Given the description of an element on the screen output the (x, y) to click on. 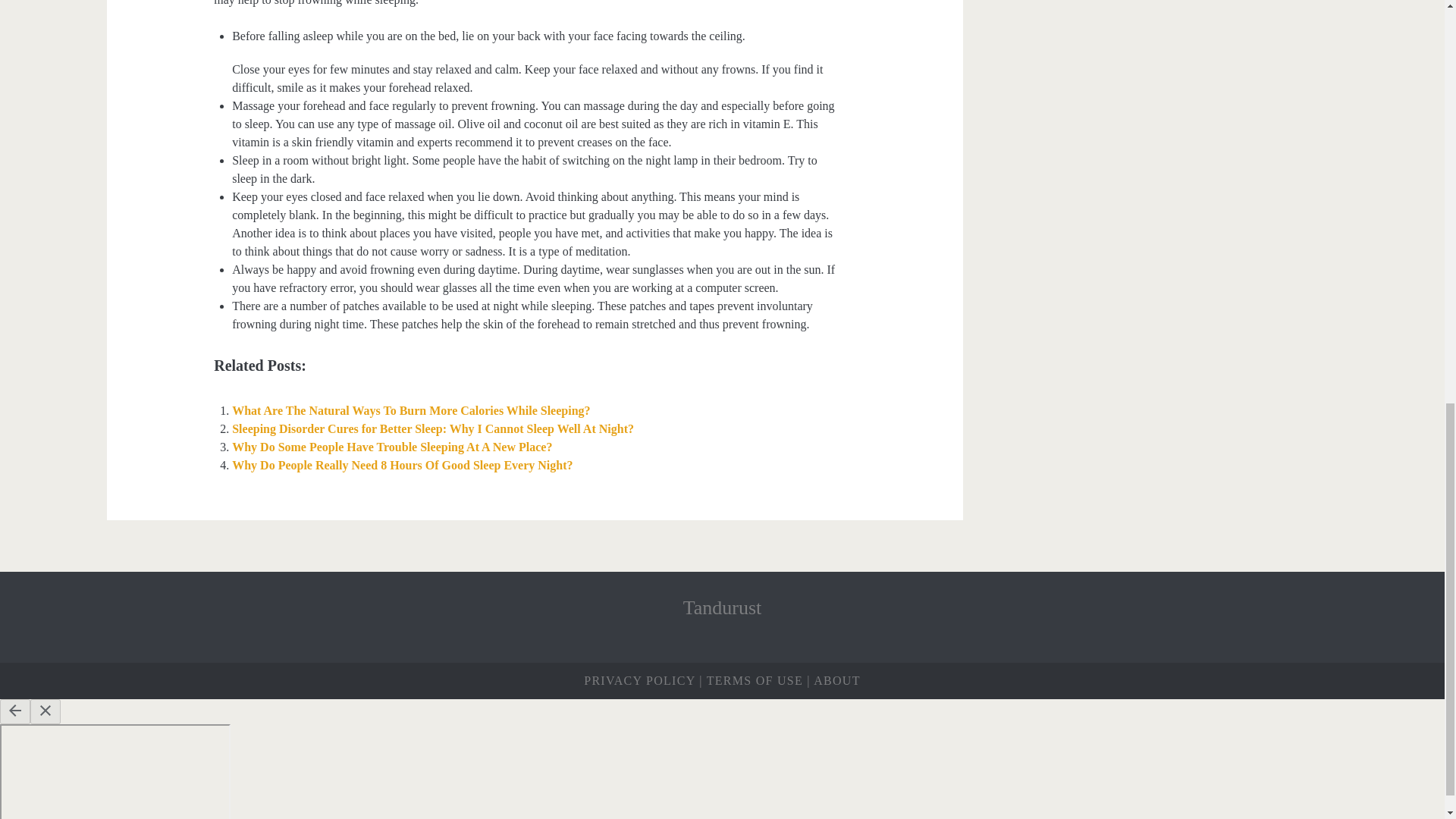
Why Do People Really Need 8 Hours Of Good Sleep Every Night? (401, 464)
PRIVACY POLICY (639, 680)
TERMS OF USE (754, 680)
Tandurust (721, 608)
Why Do People Really Need 8 Hours Of Good Sleep Every Night? (401, 464)
Why Do Some People Have Trouble Sleeping At A New Place? (391, 446)
